Given the description of an element on the screen output the (x, y) to click on. 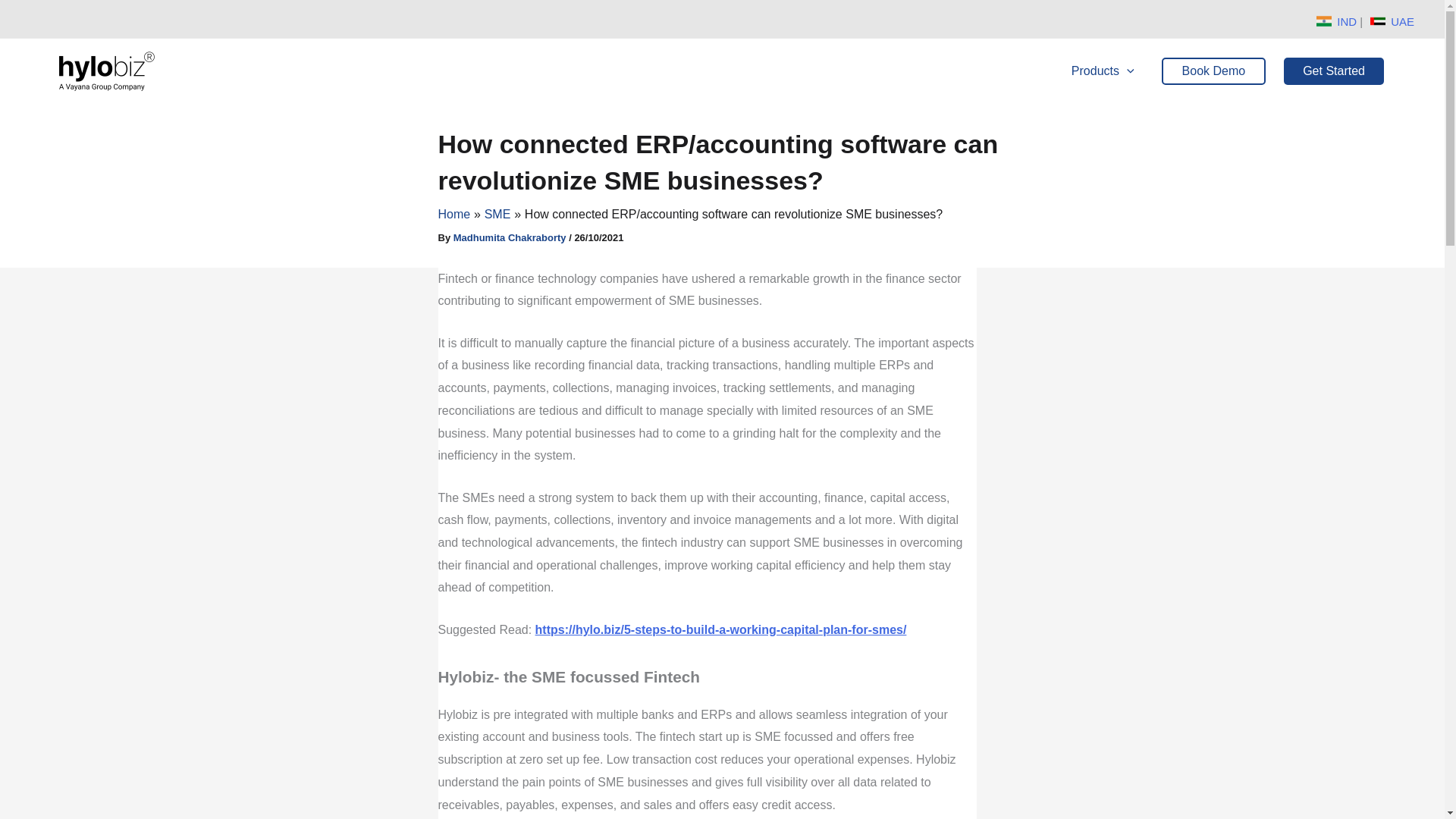
Get Started (1334, 71)
Home (454, 214)
View all posts by Madhumita Chakraborty (510, 237)
IND (1347, 21)
UAE (1401, 21)
SME (497, 214)
Madhumita Chakraborty (510, 237)
Products (1103, 71)
Book Demo (1213, 71)
